Given the description of an element on the screen output the (x, y) to click on. 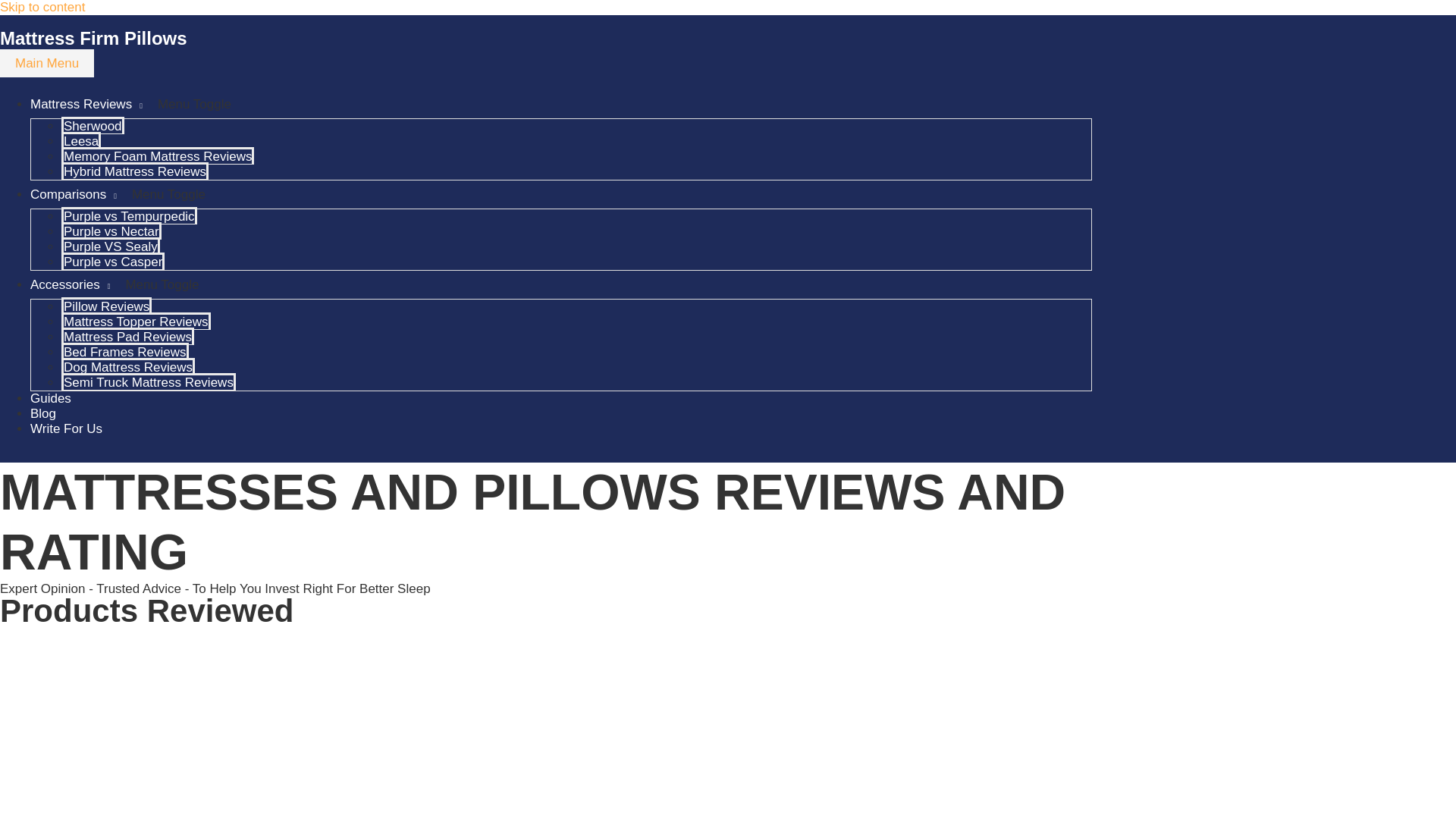
Purple VS Sealy (110, 245)
Skip to content (42, 7)
Guides (50, 398)
Purple vs Tempurpedic (128, 215)
Menu Toggle (194, 103)
Mattress Topper Reviews (136, 321)
Memory Foam Mattress Reviews (157, 155)
Menu Toggle (162, 284)
Mattress Pad Reviews (127, 335)
Leesa (80, 140)
Accessories (70, 284)
Write For Us (65, 428)
Semi Truck Mattress Reviews (148, 381)
Mattress Firm Pillows (93, 37)
Hybrid Mattress Reviews (134, 170)
